Given the description of an element on the screen output the (x, y) to click on. 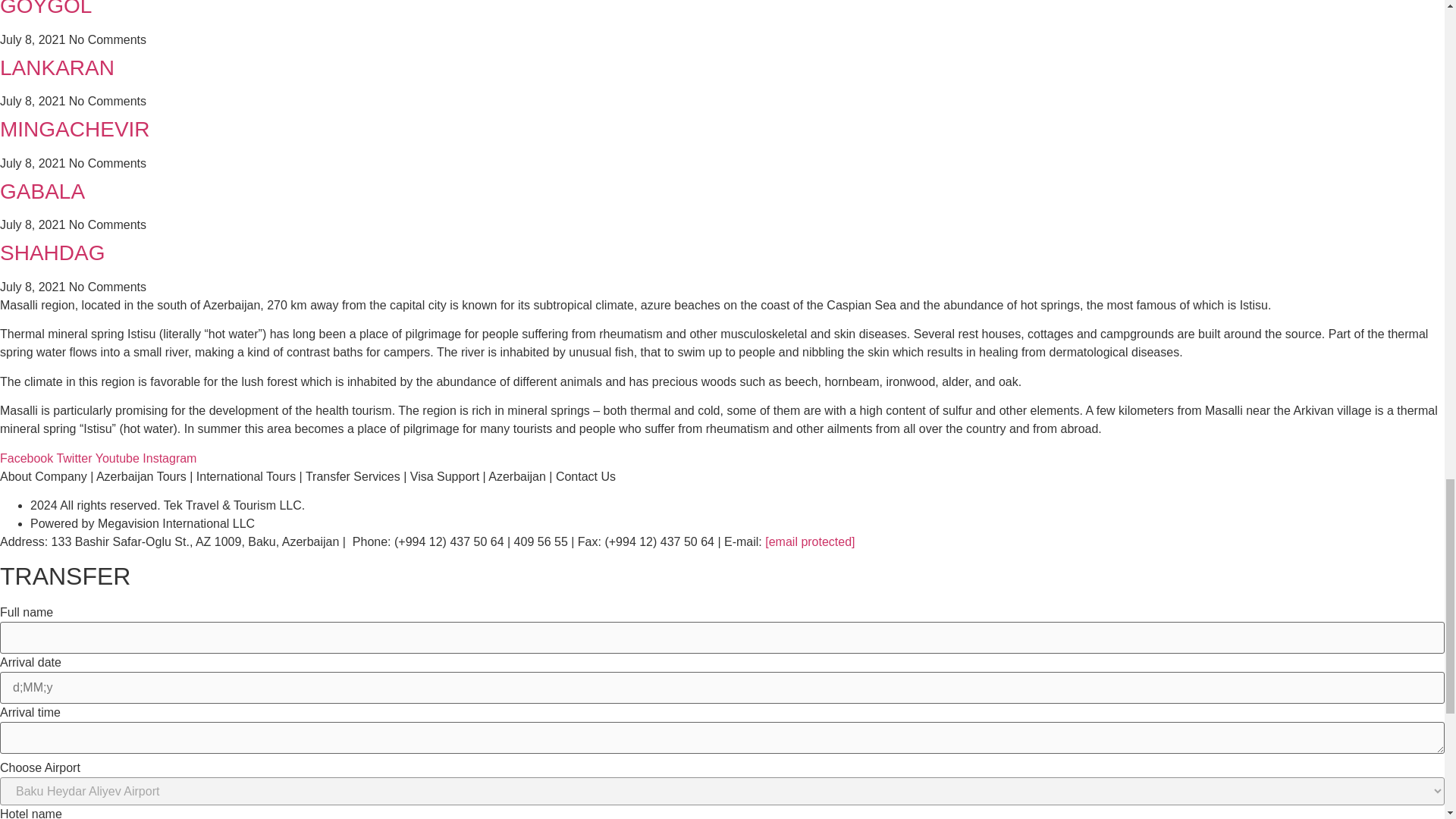
LANKARAN (57, 67)
Twitter (75, 458)
Instagram (169, 458)
GOYGOL (45, 8)
Facebook (28, 458)
Youtube (119, 458)
MINGACHEVIR (74, 128)
GABALA (42, 191)
SHAHDAG (52, 252)
